Given the description of an element on the screen output the (x, y) to click on. 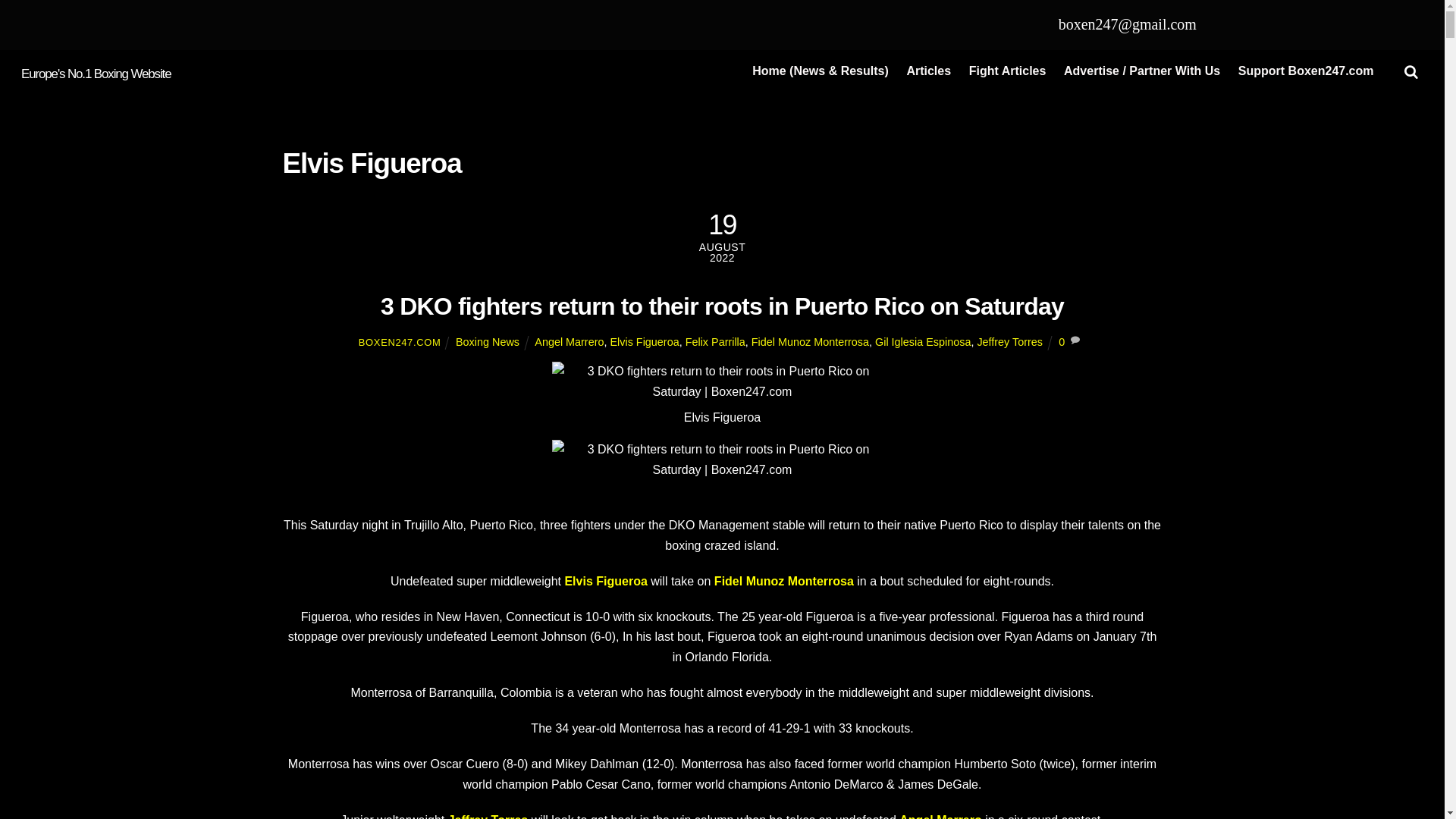
Support Boxen247.com (1305, 71)
Europe's No.1 Boxing Website (95, 73)
Europe's No.1 Boxing Website (95, 73)
Articles (928, 71)
Boxing News (487, 341)
Angel Marrero (569, 341)
Fight Articles (1006, 71)
BOXEN247.COM (399, 342)
